Given the description of an element on the screen output the (x, y) to click on. 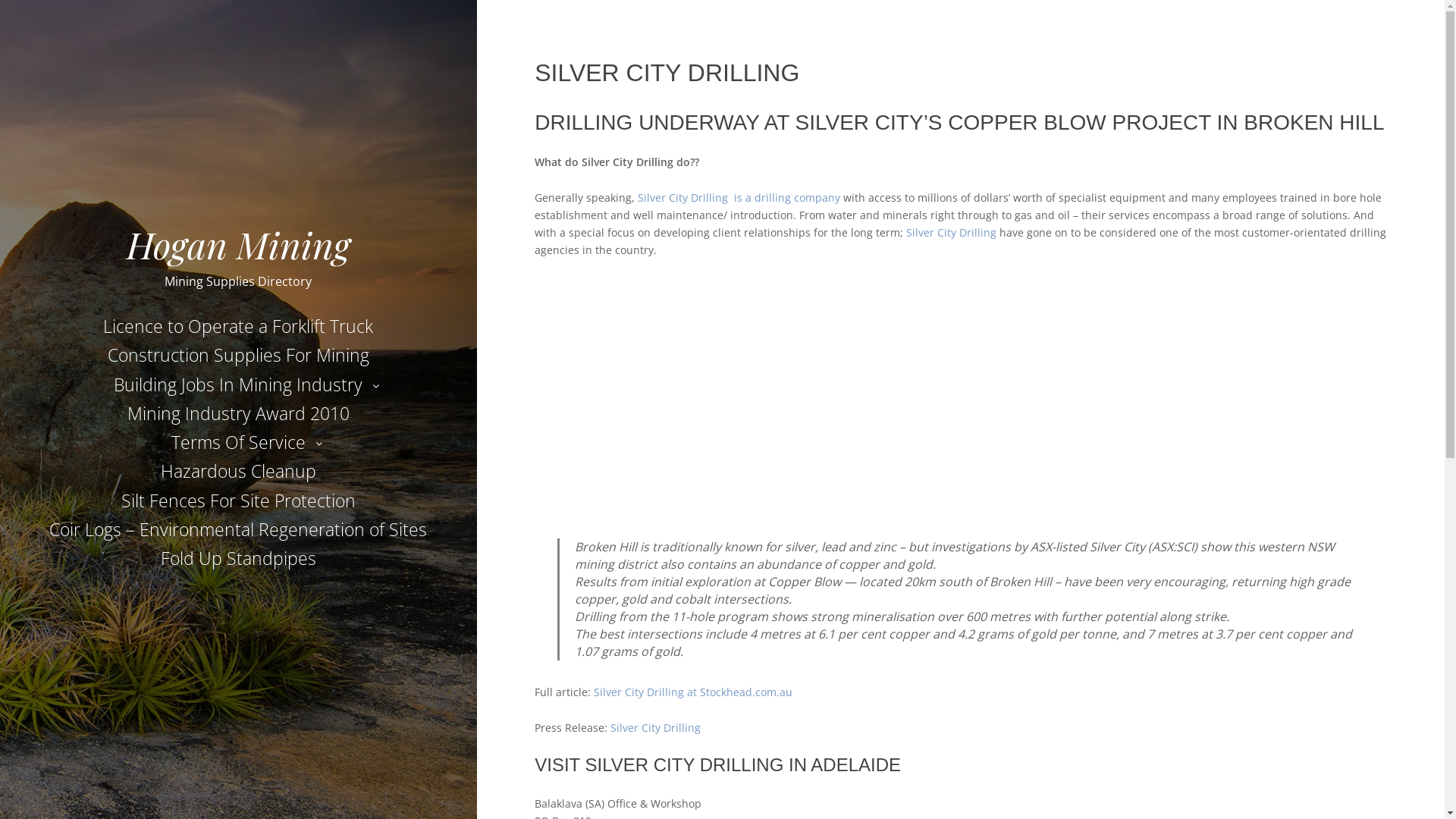
Hazardous Cleanup Element type: text (238, 470)
Silver City Drilling Element type: text (655, 727)
Silver City Drilling Element type: text (951, 232)
Building Jobs In Mining Industry Element type: text (237, 384)
Terms Of Service Element type: text (238, 441)
Construction Supplies For Mining Element type: text (238, 354)
Mining Industry Award 2010 Element type: text (238, 412)
Silver City Drilling at Stockhead.com.au Element type: text (692, 691)
Hogan Mining Element type: text (238, 243)
Silver City Drilling  is a drilling company Element type: text (738, 197)
Fold Up Standpipes Element type: text (238, 557)
Silt Fences For Site Protection Element type: text (238, 500)
Licence to Operate a Forklift Truck Element type: text (238, 325)
